Given the description of an element on the screen output the (x, y) to click on. 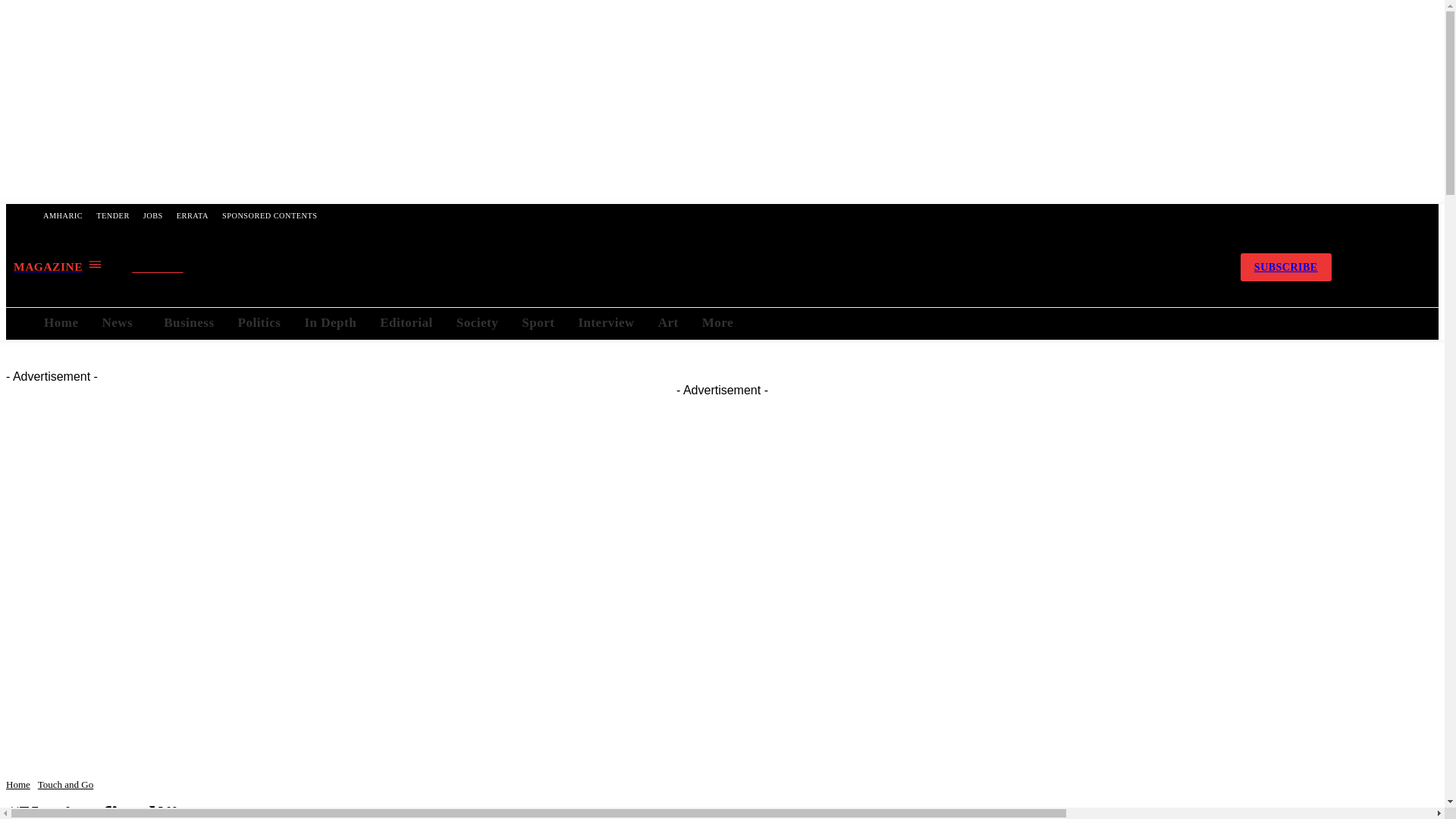
ERRATA (192, 216)
SPONSORED CONTENTS (269, 216)
The Reporter Ethiopia, Ethiopian News (672, 267)
Facebook (1086, 267)
MAGAZINE (57, 266)
AMHARIC (62, 216)
Telegram (1125, 267)
SEARCH (170, 267)
JOBS (153, 216)
Magazine (57, 266)
The Reporter Ethiopia, Ethiopian News (672, 267)
TENDER (112, 216)
